Given the description of an element on the screen output the (x, y) to click on. 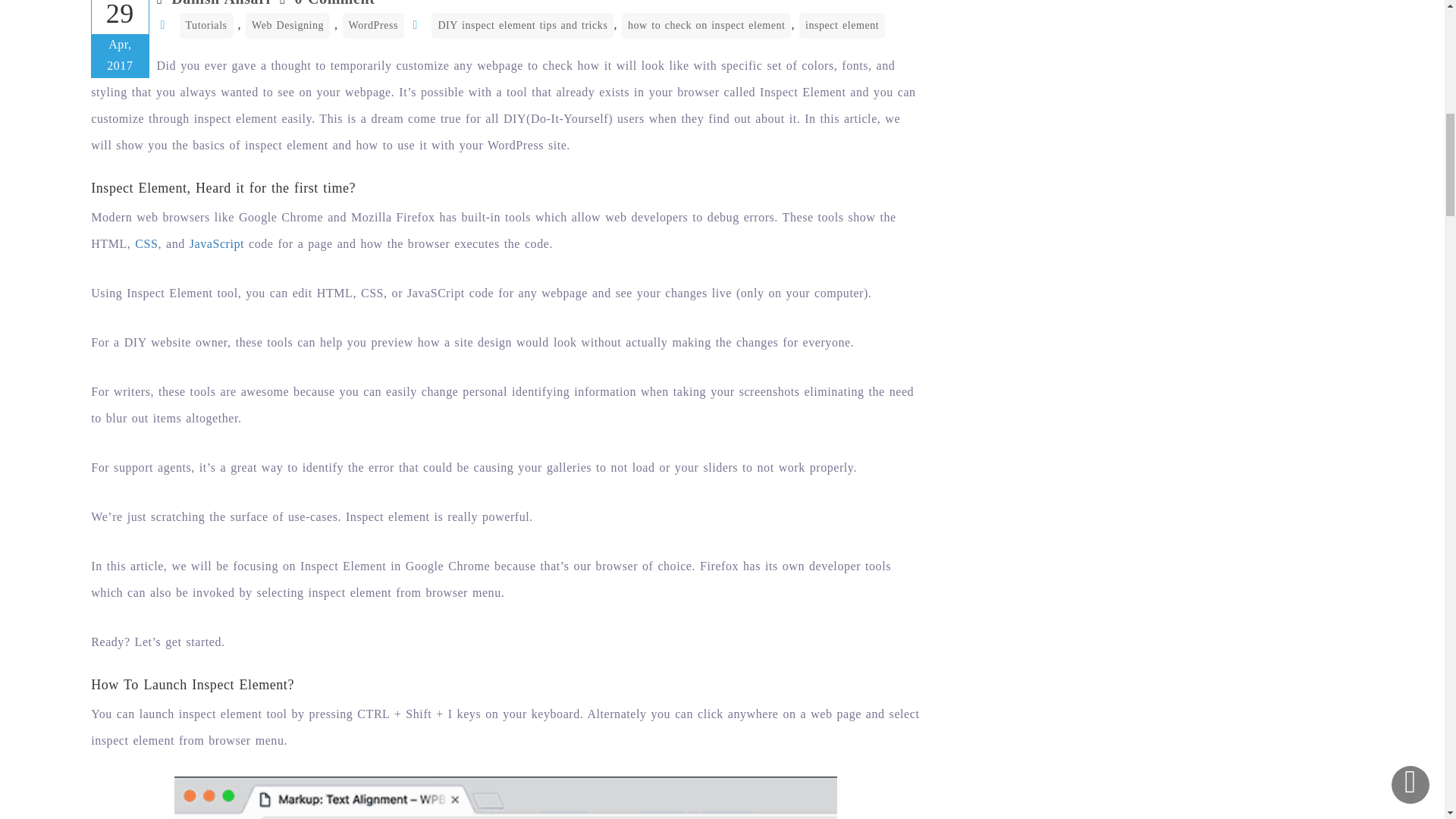
Web Designing (288, 25)
inspect element (842, 25)
how to check on inspect element (705, 25)
Danish Ansari (220, 3)
What is CSS in WordPress? How to Use CSS in WordPress? (146, 243)
DIY inspect element tips and tricks (521, 25)
Posts by Danish Ansari (220, 3)
WordPress (373, 25)
0 Comment (335, 3)
Tutorials (205, 25)
JavaScript (216, 243)
CSS (146, 243)
What is JavaScript?  (216, 243)
